Given the description of an element on the screen output the (x, y) to click on. 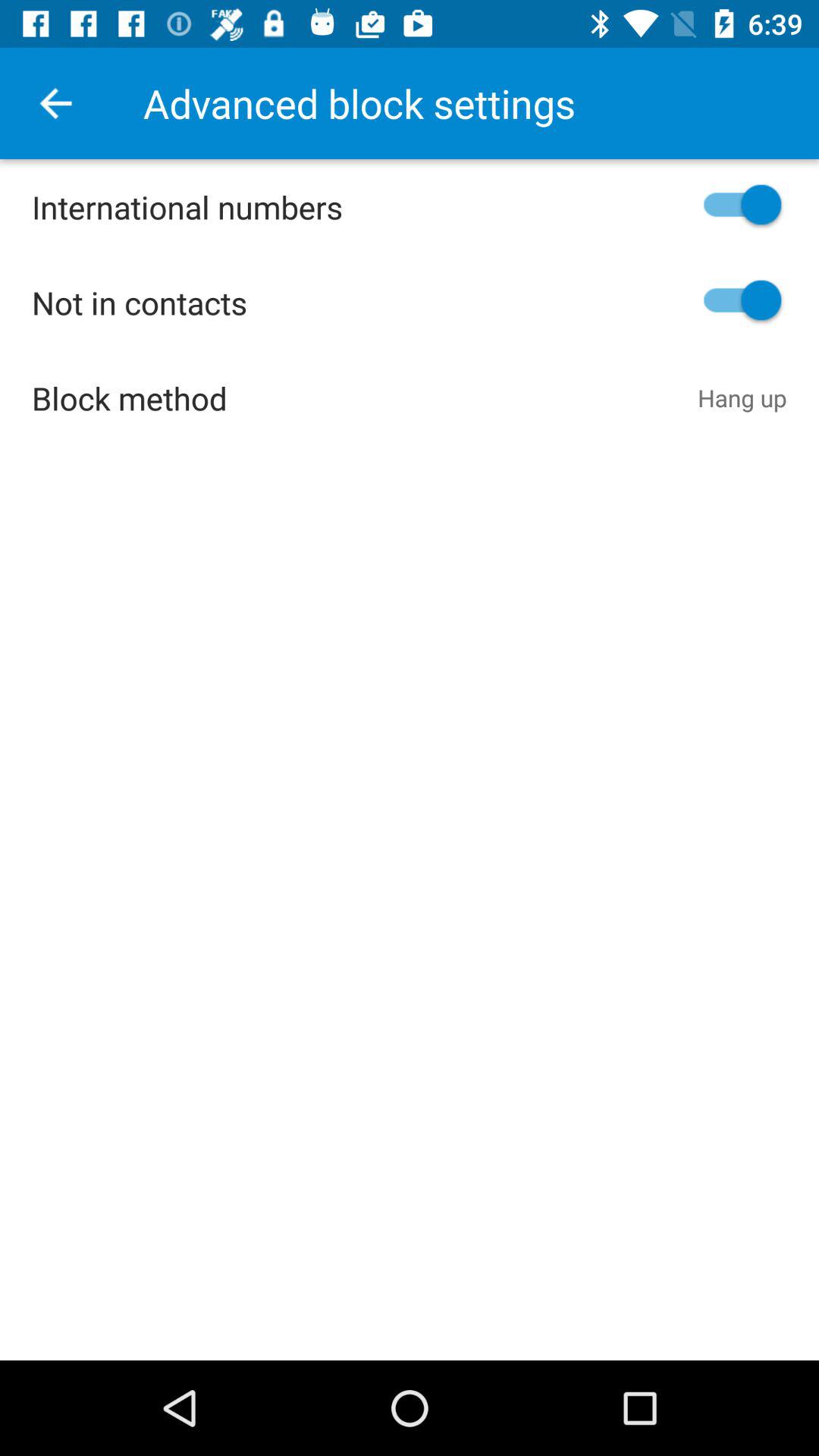
press item above the international numbers icon (55, 103)
